Given the description of an element on the screen output the (x, y) to click on. 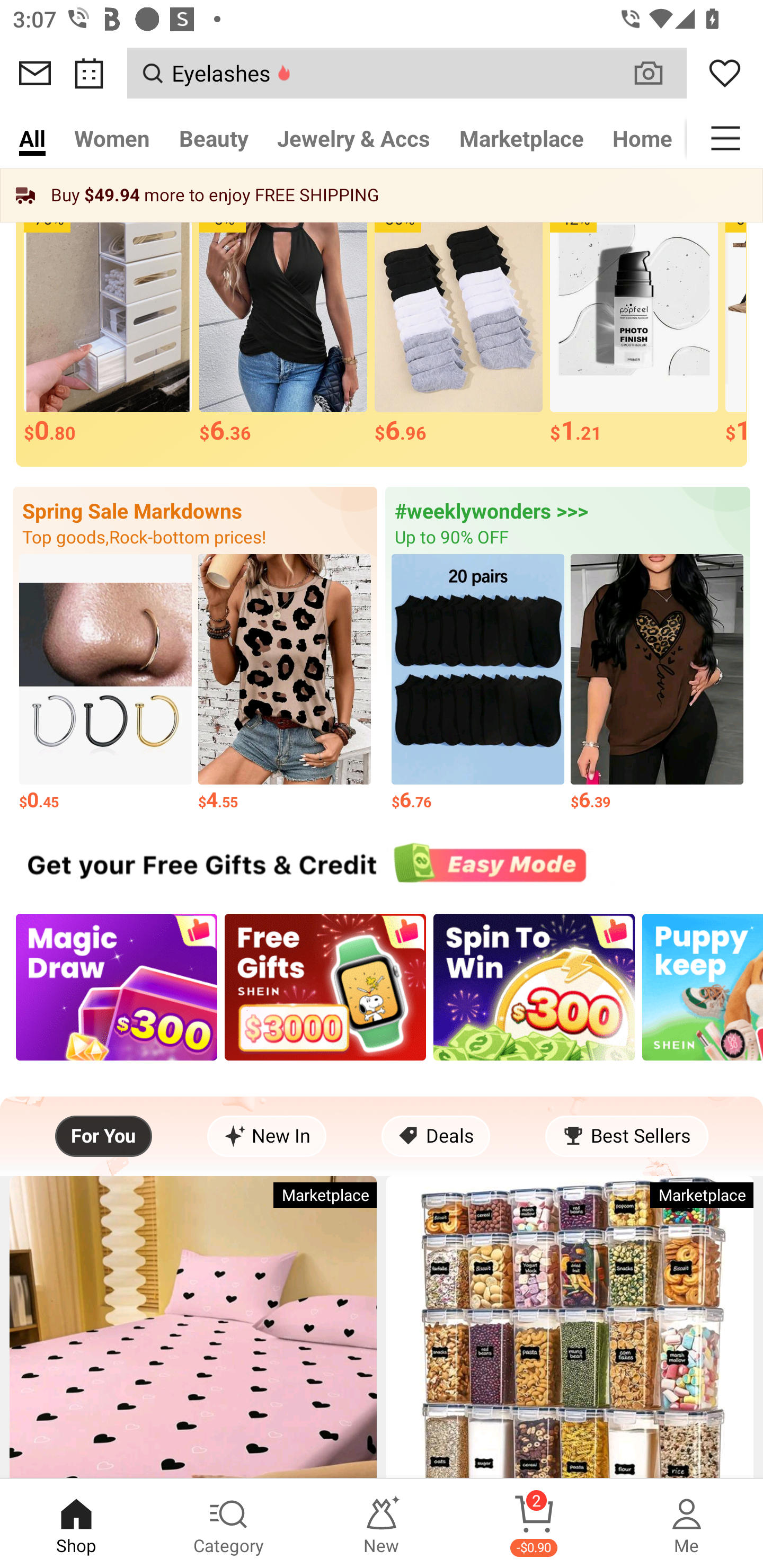
Wishlist (724, 72)
VISUAL SEARCH (657, 72)
All (31, 137)
Women (111, 137)
Beauty (213, 137)
Jewelry & Accs (353, 137)
Marketplace (521, 137)
Home (642, 137)
Buy $49.94 more to enjoy FREE SHIPPING (381, 194)
$0.45 Price $0.45 (105, 683)
$4.55 Price $4.55 (284, 683)
$6.76 Price $6.76 (477, 683)
$6.39 Price $6.39 (656, 683)
New In (266, 1136)
Deals (435, 1136)
Best Sellers (626, 1136)
Category (228, 1523)
New (381, 1523)
Cart 2 -$0.90 (533, 1523)
Me (686, 1523)
